Given the description of an element on the screen output the (x, y) to click on. 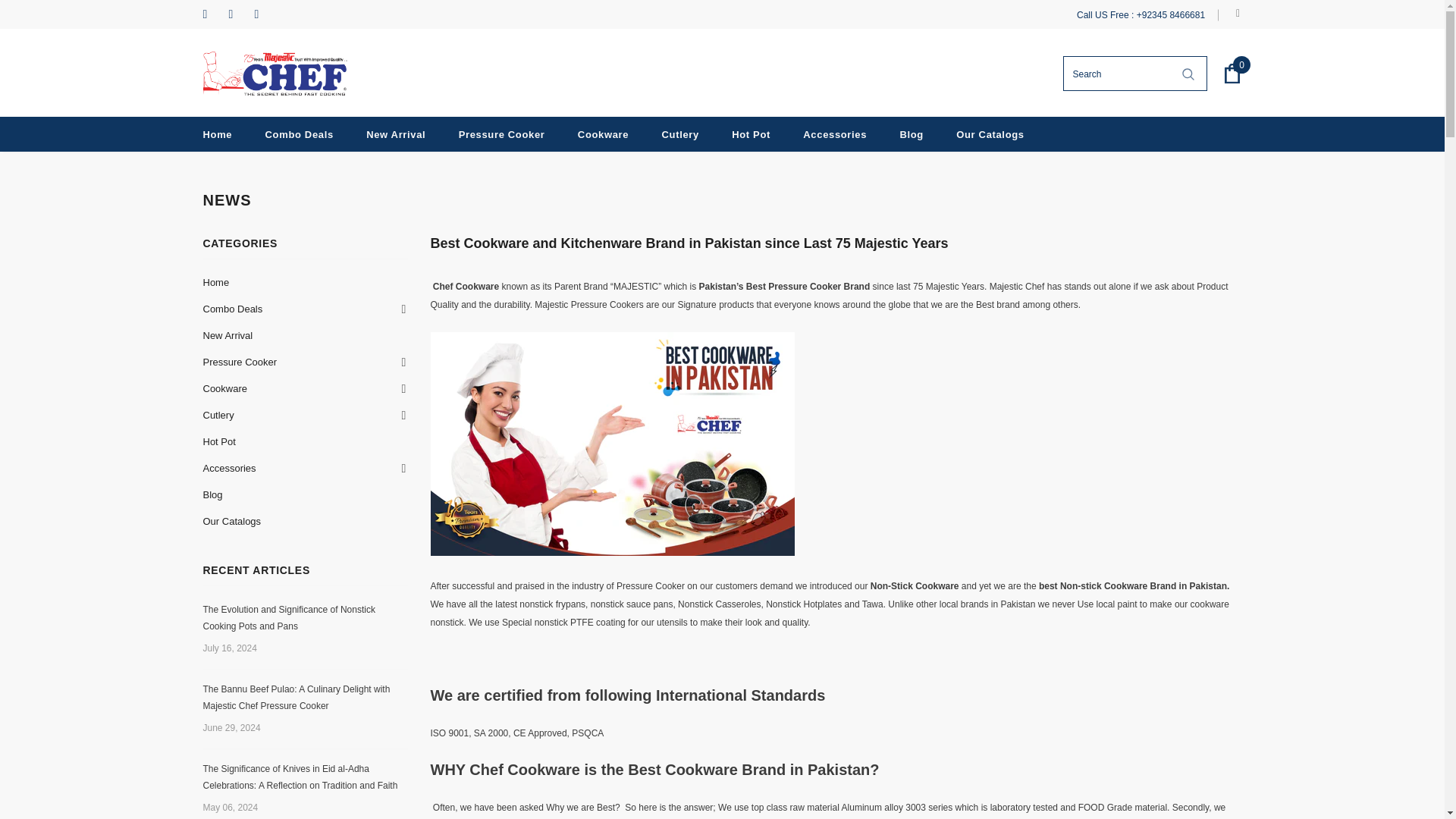
Pressure Cooker (240, 361)
Blog (911, 133)
Our Catalogs (989, 133)
Facebook (212, 14)
Cutlery (680, 133)
Cookware (603, 133)
New Arrival (395, 133)
Accessories (834, 133)
Home (217, 133)
0 (1232, 73)
Pressure Cooker (501, 133)
New Arrival (228, 335)
Combo Deals (233, 308)
Instagram (237, 14)
Logo (275, 73)
